Given the description of an element on the screen output the (x, y) to click on. 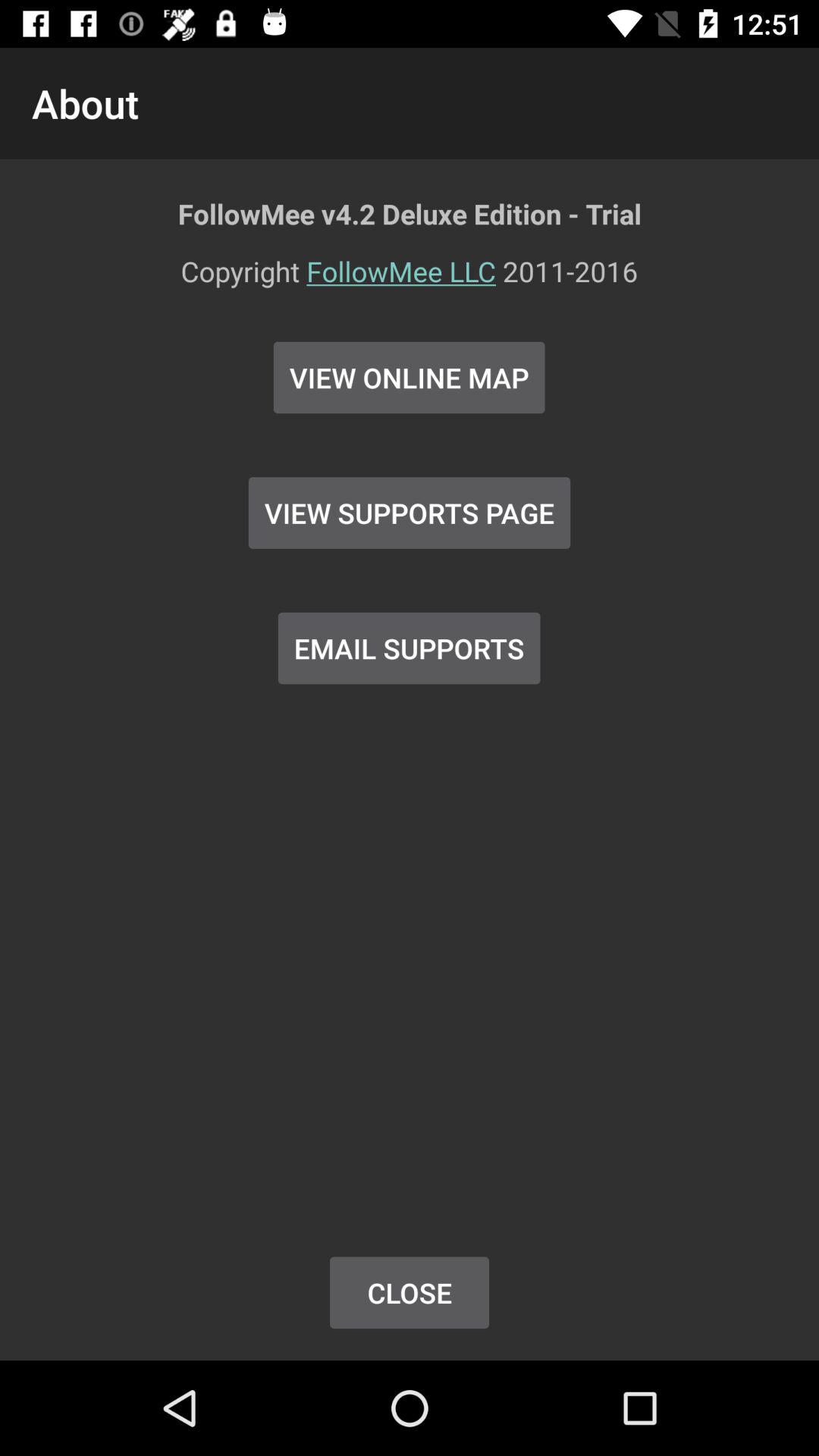
choose copyright followmee llc app (409, 280)
